Given the description of an element on the screen output the (x, y) to click on. 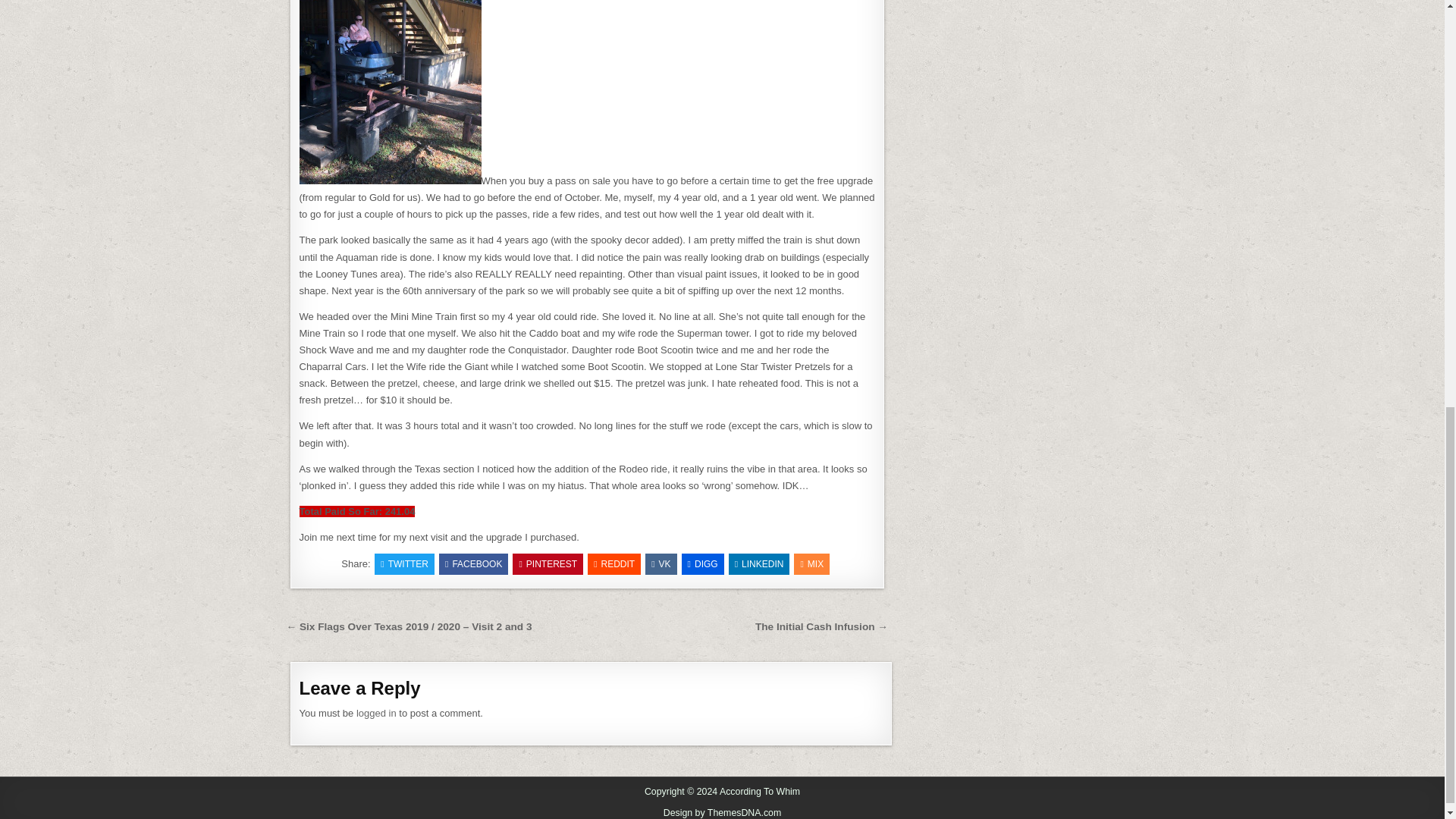
Share this on Linkedin (759, 563)
LINKEDIN (759, 563)
Tweet This! (403, 563)
Design by ThemesDNA.com (722, 812)
TWITTER (403, 563)
VK (661, 563)
Share this on Digg (702, 563)
Share this on Reddit (614, 563)
Share this on VK (661, 563)
PINTEREST (547, 563)
MIX (811, 563)
REDDIT (614, 563)
Share this on Mix (811, 563)
Share this on Pinterest (547, 563)
FACEBOOK (473, 563)
